Given the description of an element on the screen output the (x, y) to click on. 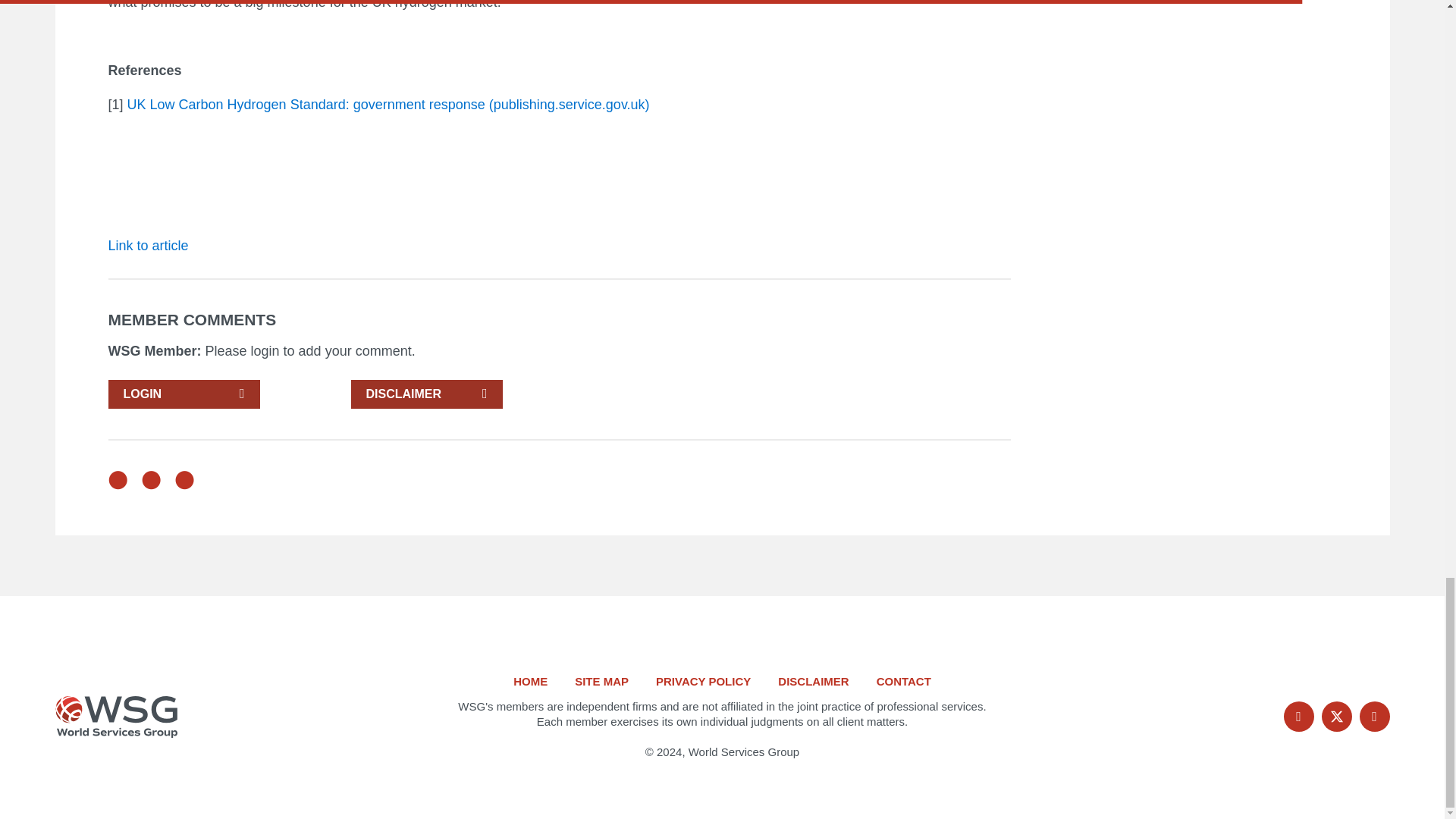
LOGIN (183, 394)
Twitter (1335, 716)
PRIVACY POLICY (703, 681)
CONTACT (903, 681)
Linkedin (1373, 716)
Facebook (1297, 716)
DISCLAIMER (426, 394)
HOME (530, 681)
Link to article (147, 245)
DISCLAIMER (812, 681)
